Given the description of an element on the screen output the (x, y) to click on. 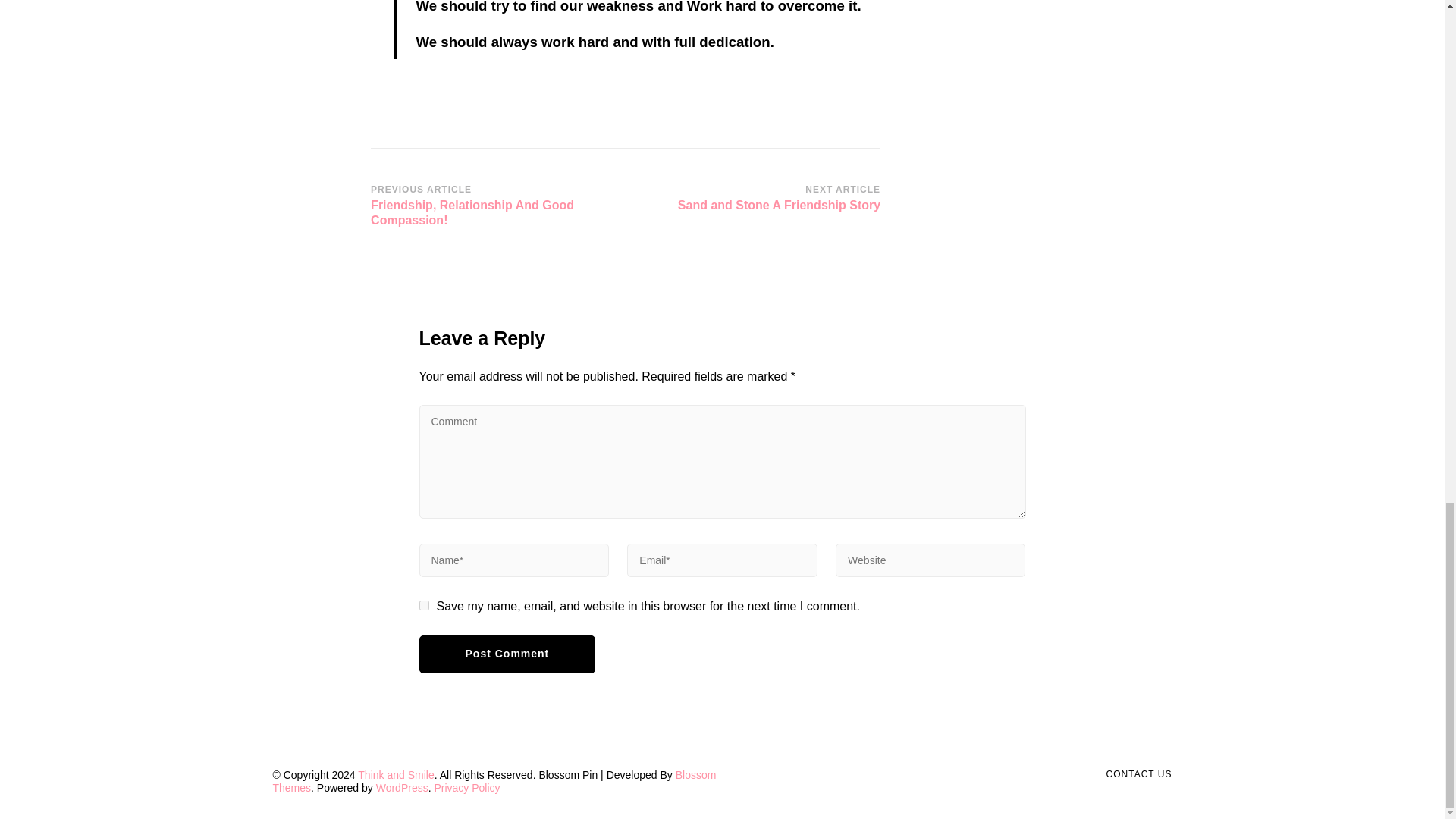
Post Comment (758, 198)
Post Comment (507, 654)
yes (507, 654)
